Given the description of an element on the screen output the (x, y) to click on. 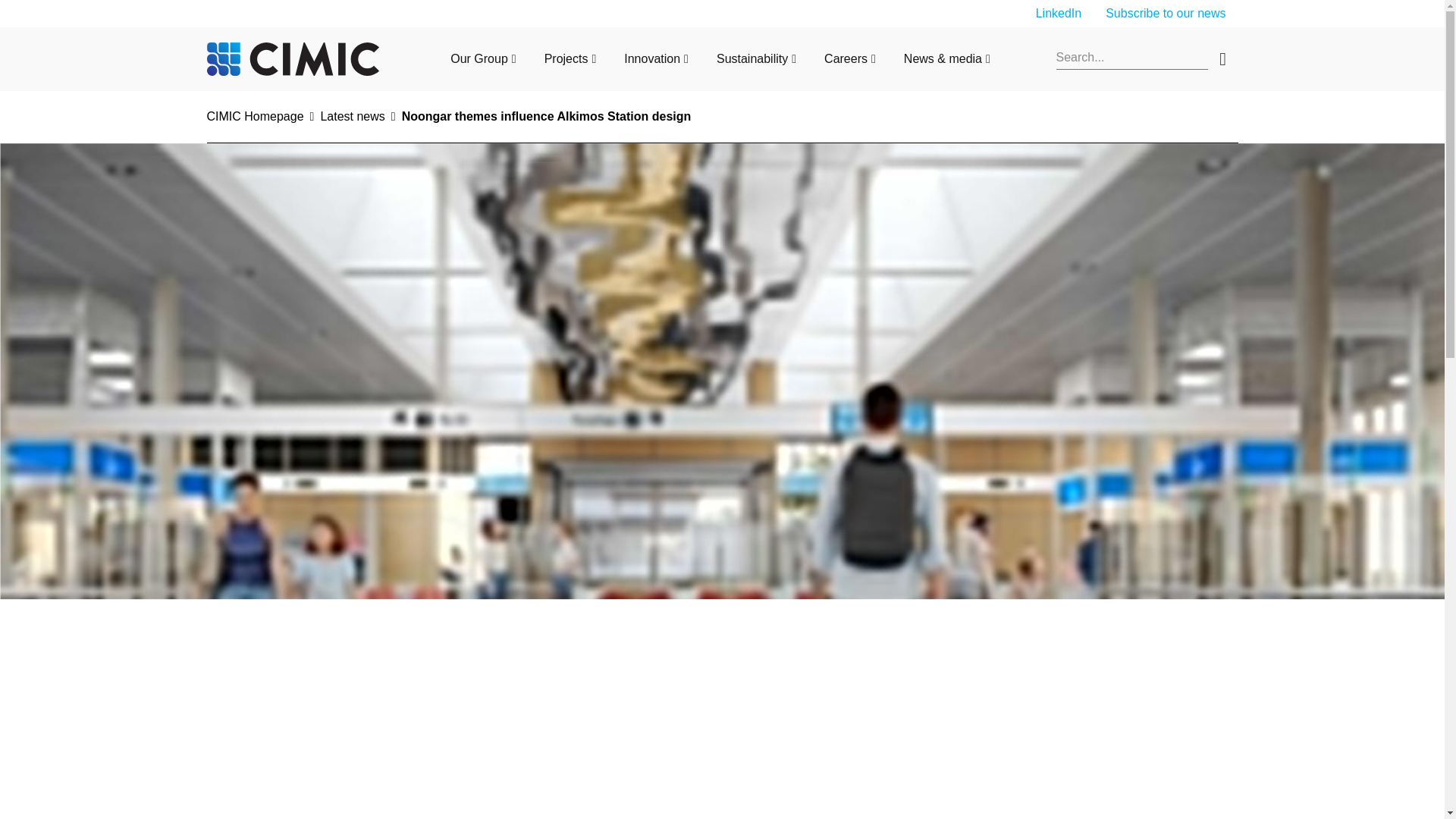
Latest news (352, 116)
Our Group (478, 58)
Careers (845, 58)
Innovation (651, 58)
Subscribe to our news (1165, 12)
Sustainability (751, 58)
Projects (566, 58)
CIMIC Homepage (254, 116)
LinkedIn (1058, 12)
